Given the description of an element on the screen output the (x, y) to click on. 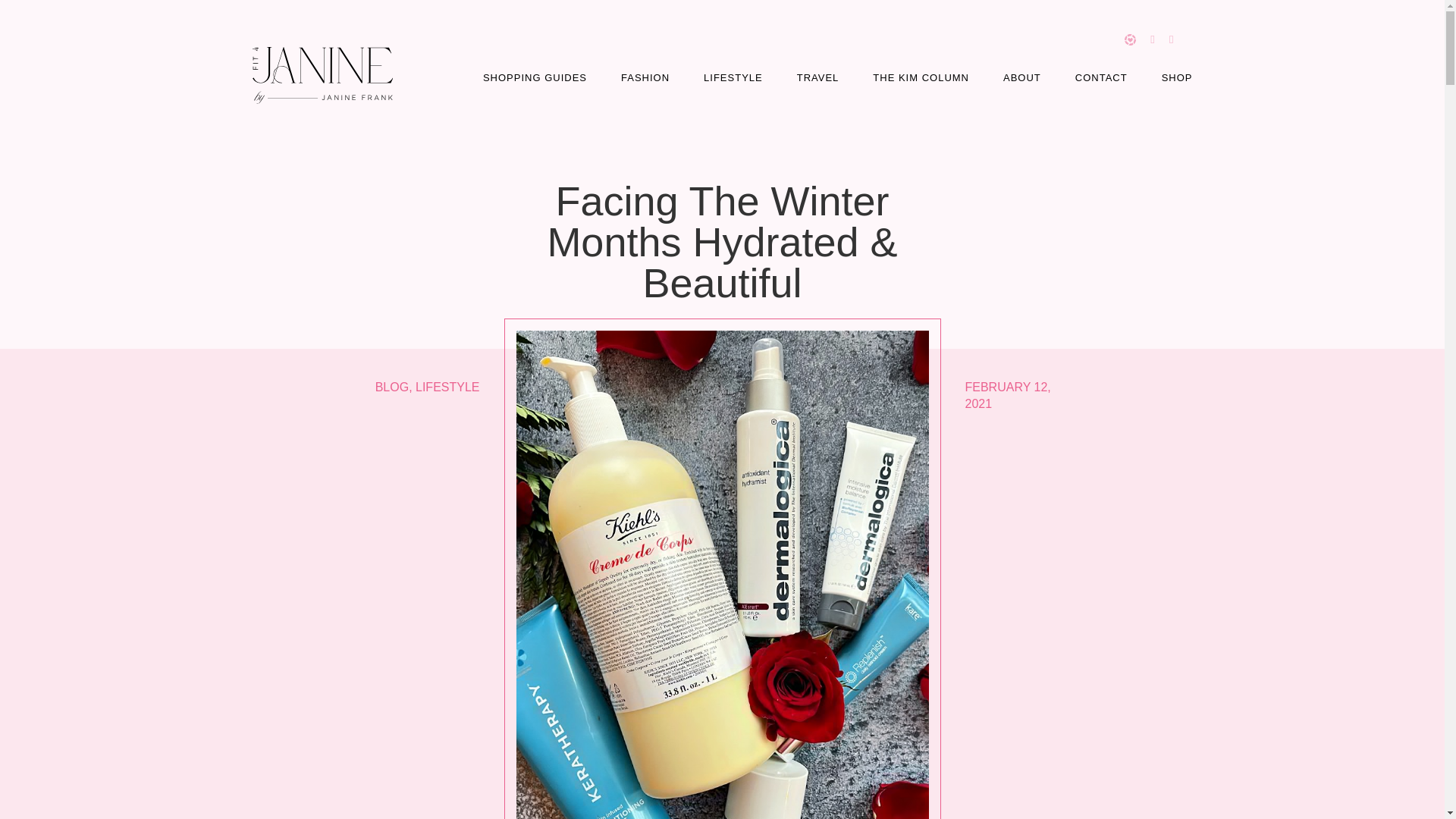
TRAVEL (818, 77)
SHOPPING GUIDES (534, 77)
THE KIM COLUMN (920, 77)
CONTACT (1100, 77)
FASHION (645, 77)
SHOP (1176, 77)
ABOUT (1022, 77)
LIFESTYLE (732, 77)
